Given the description of an element on the screen output the (x, y) to click on. 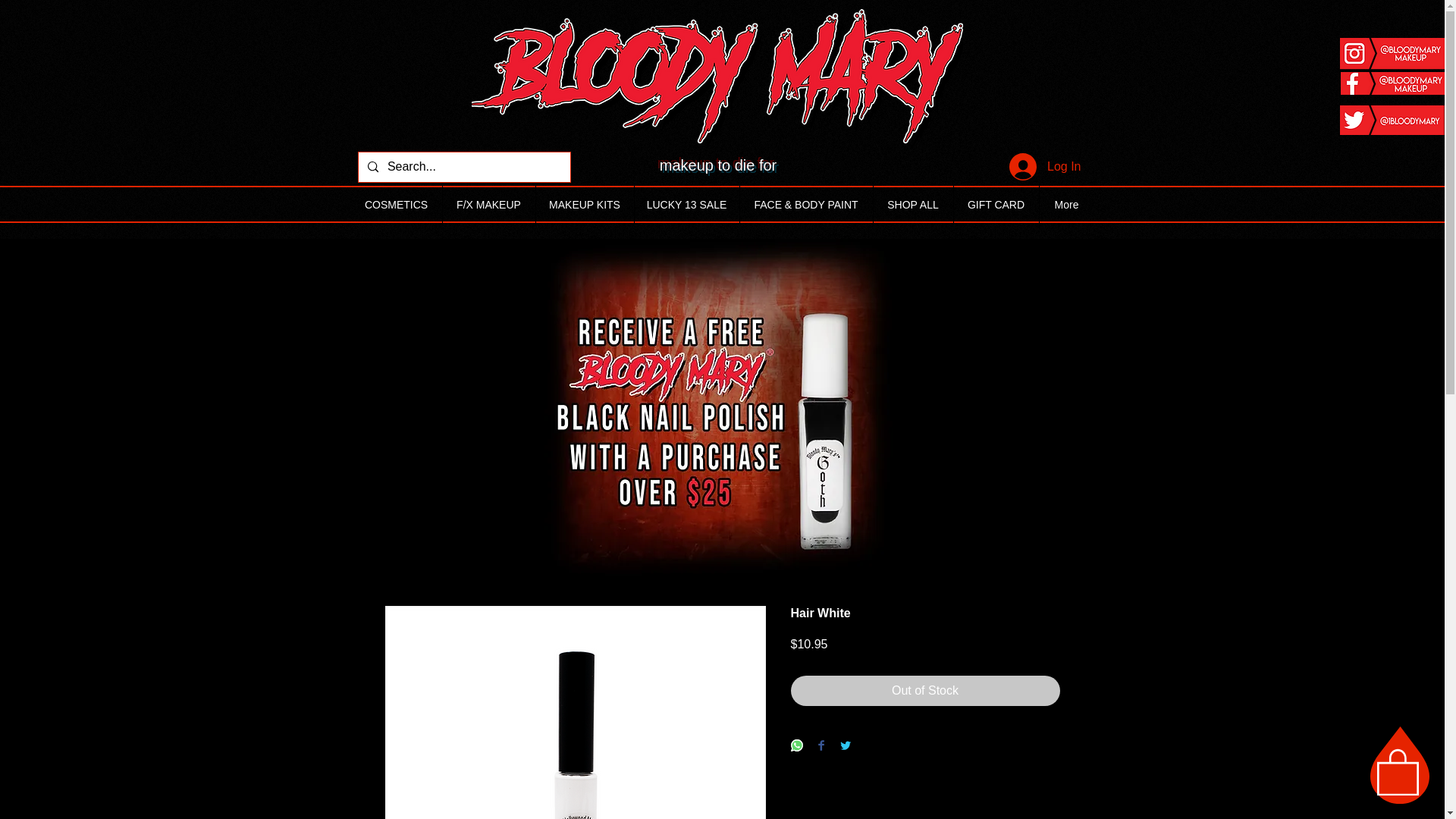
MAKEUP KITS (584, 204)
LUCKY 13 SALE (686, 204)
COSMETICS (395, 204)
Out of Stock (924, 690)
Log In (1044, 166)
